Given the description of an element on the screen output the (x, y) to click on. 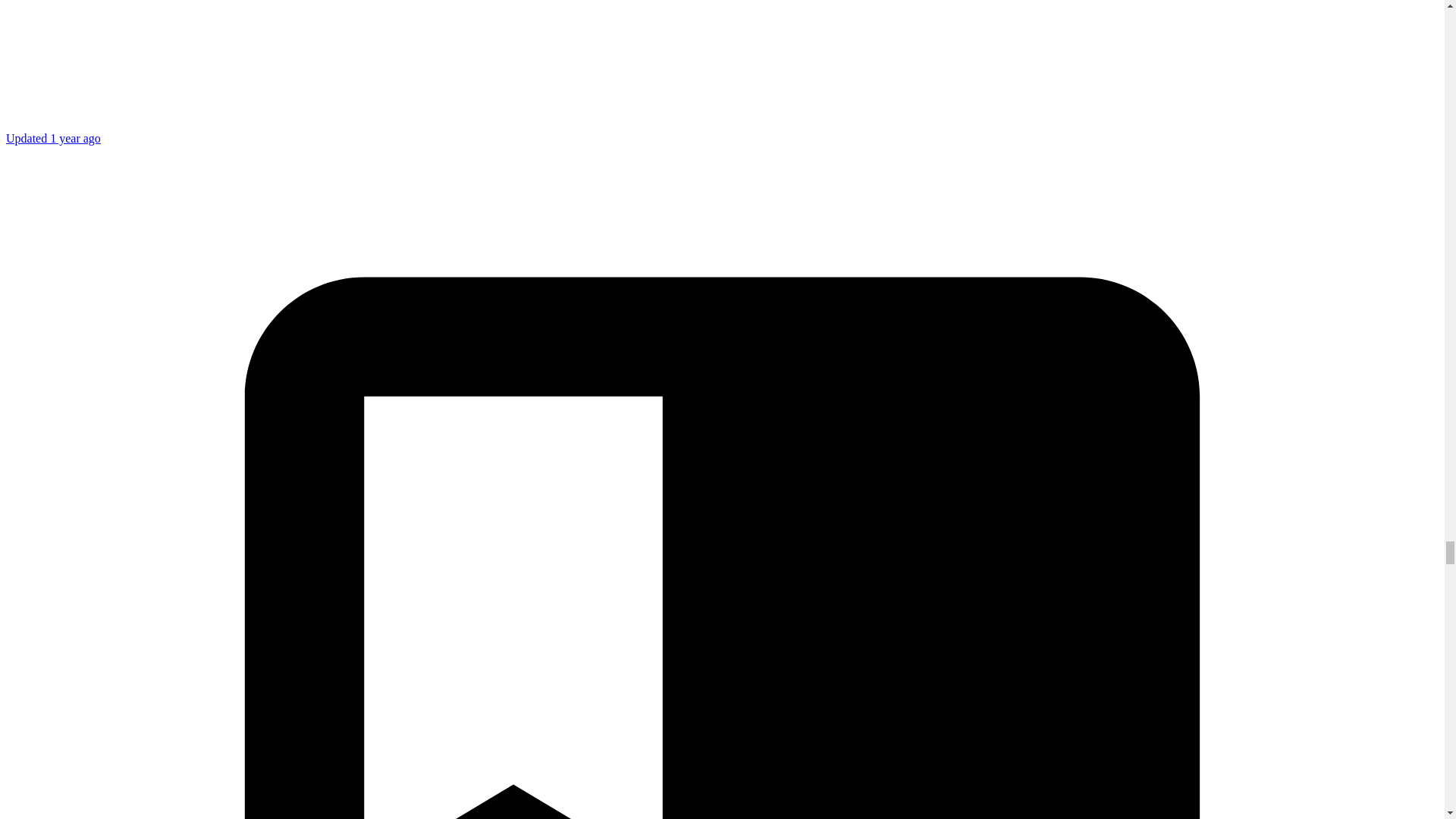
Sun, Nov 13, 2022 2:21 PM (52, 137)
